Given the description of an element on the screen output the (x, y) to click on. 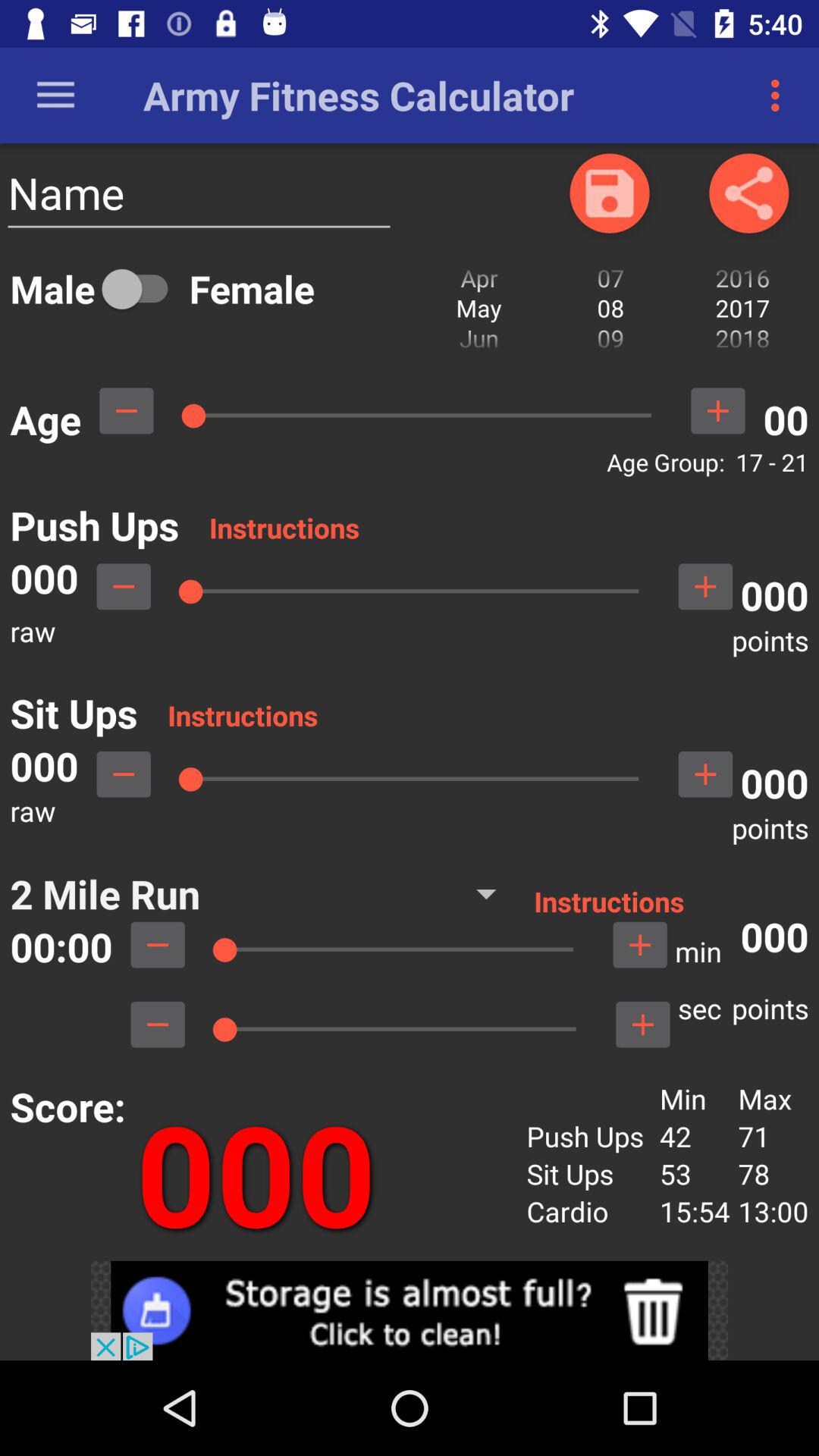
save icon (609, 193)
